Given the description of an element on the screen output the (x, y) to click on. 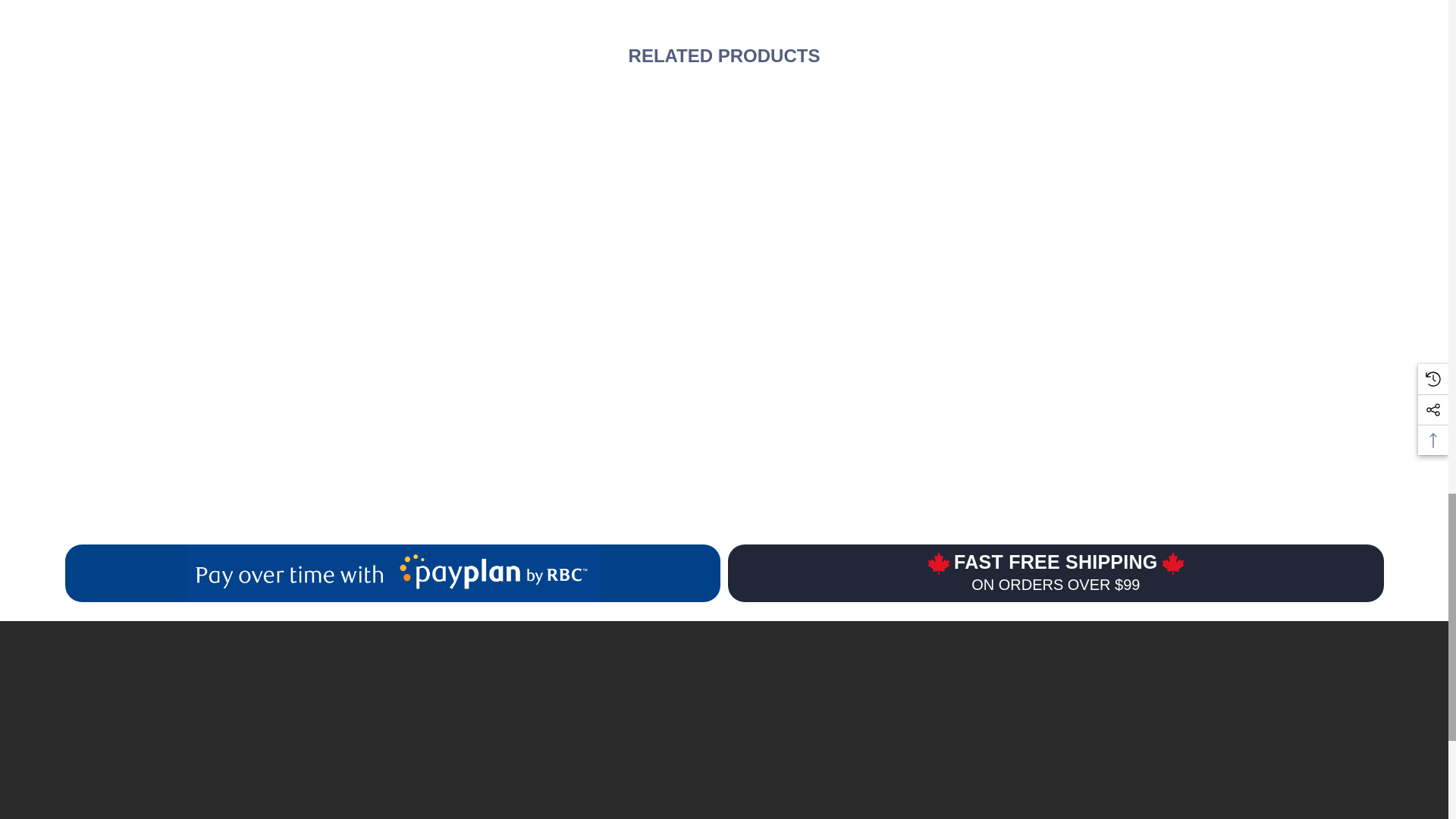
Pay over time with PayPlan by RBC (392, 572)
Fast Free Shipping (1055, 573)
